Given the description of an element on the screen output the (x, y) to click on. 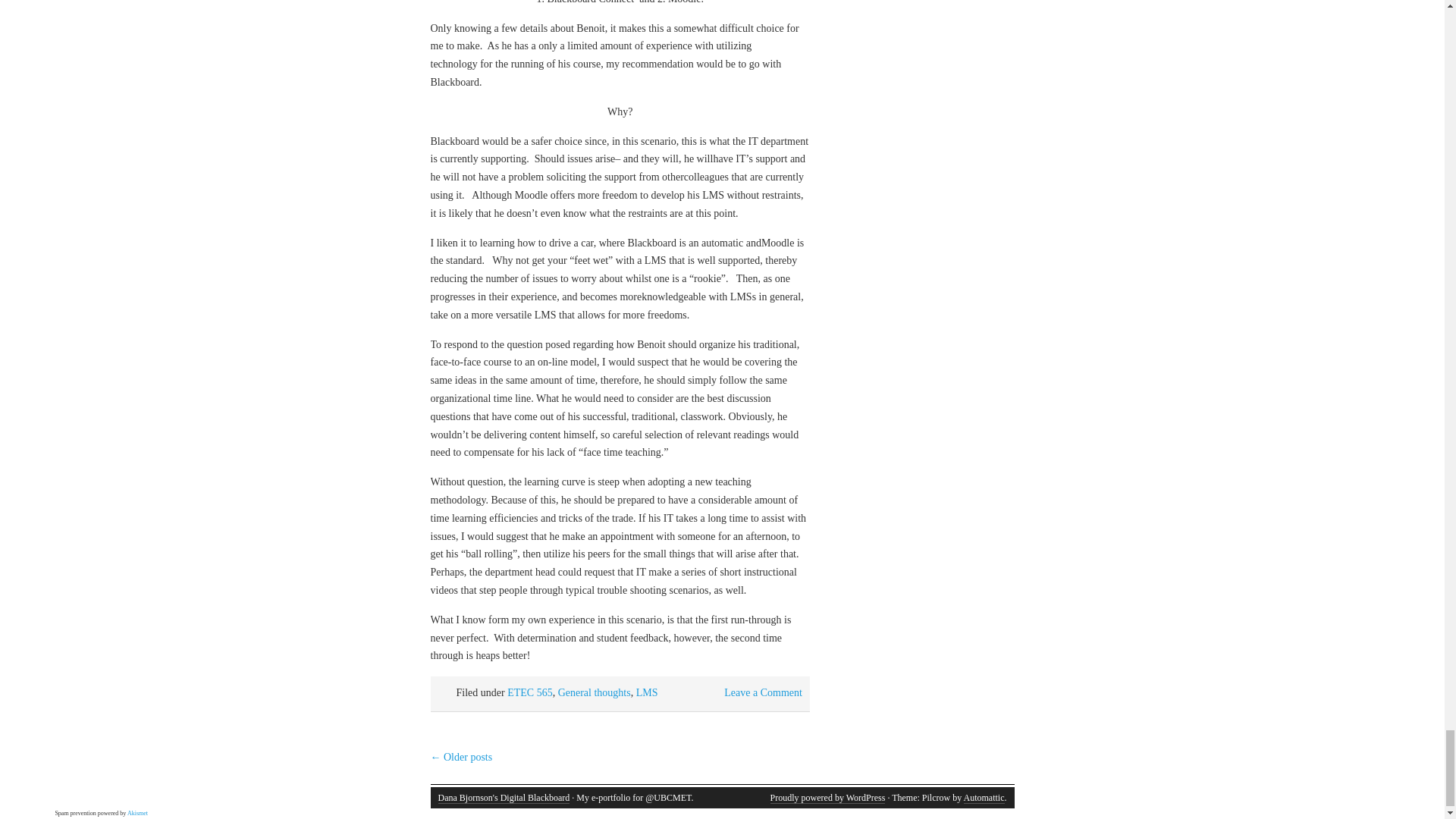
Dana Bjornson's Digital Blackboard (504, 797)
A Semantic Personal Publishing Platform (827, 797)
